Given the description of an element on the screen output the (x, y) to click on. 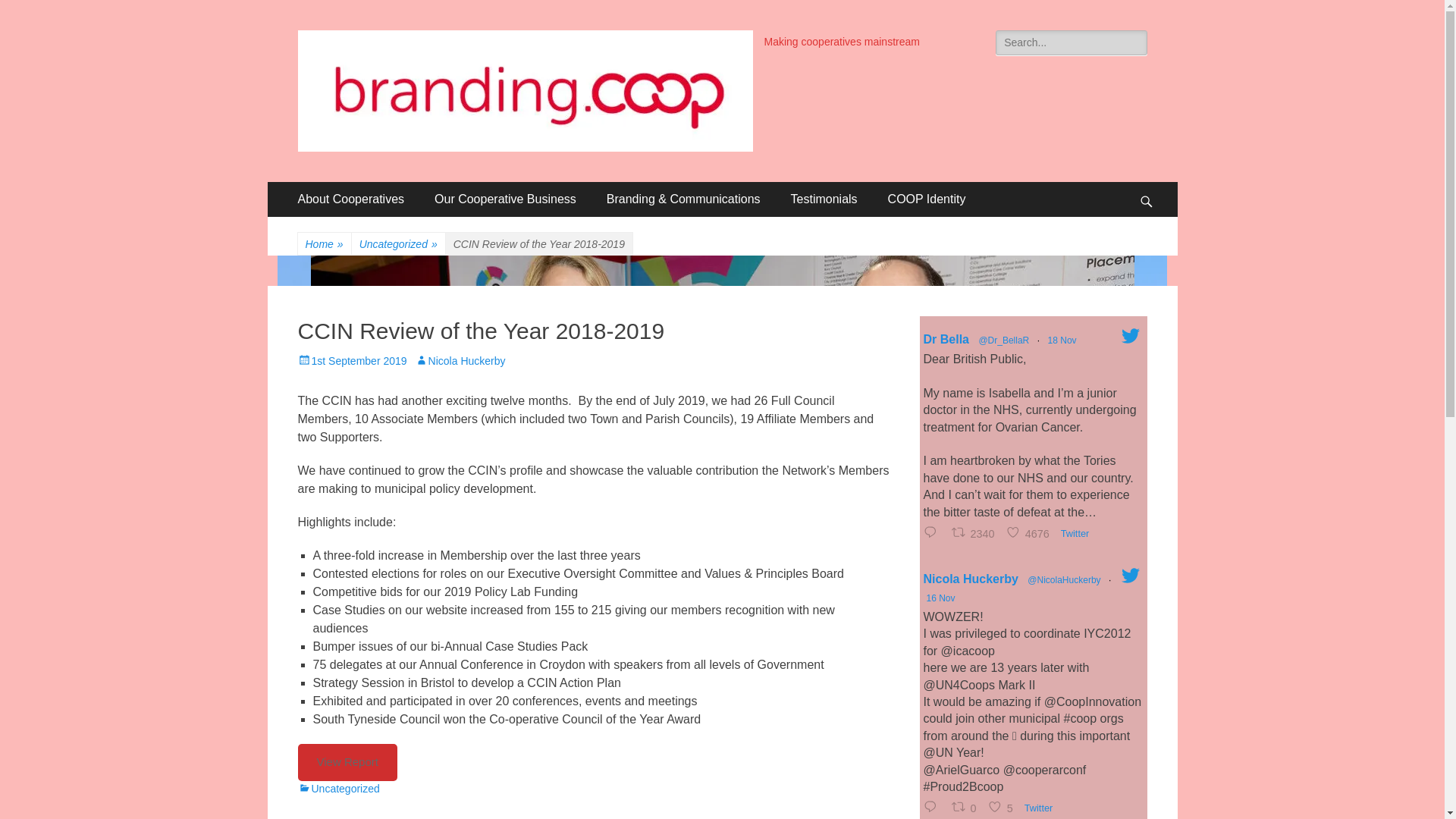
Testimonials (824, 199)
About Cooperatives (350, 199)
COOP Identity (926, 199)
Search for: (1071, 42)
Our Cooperative Business (505, 199)
Search (33, 13)
